Given the description of an element on the screen output the (x, y) to click on. 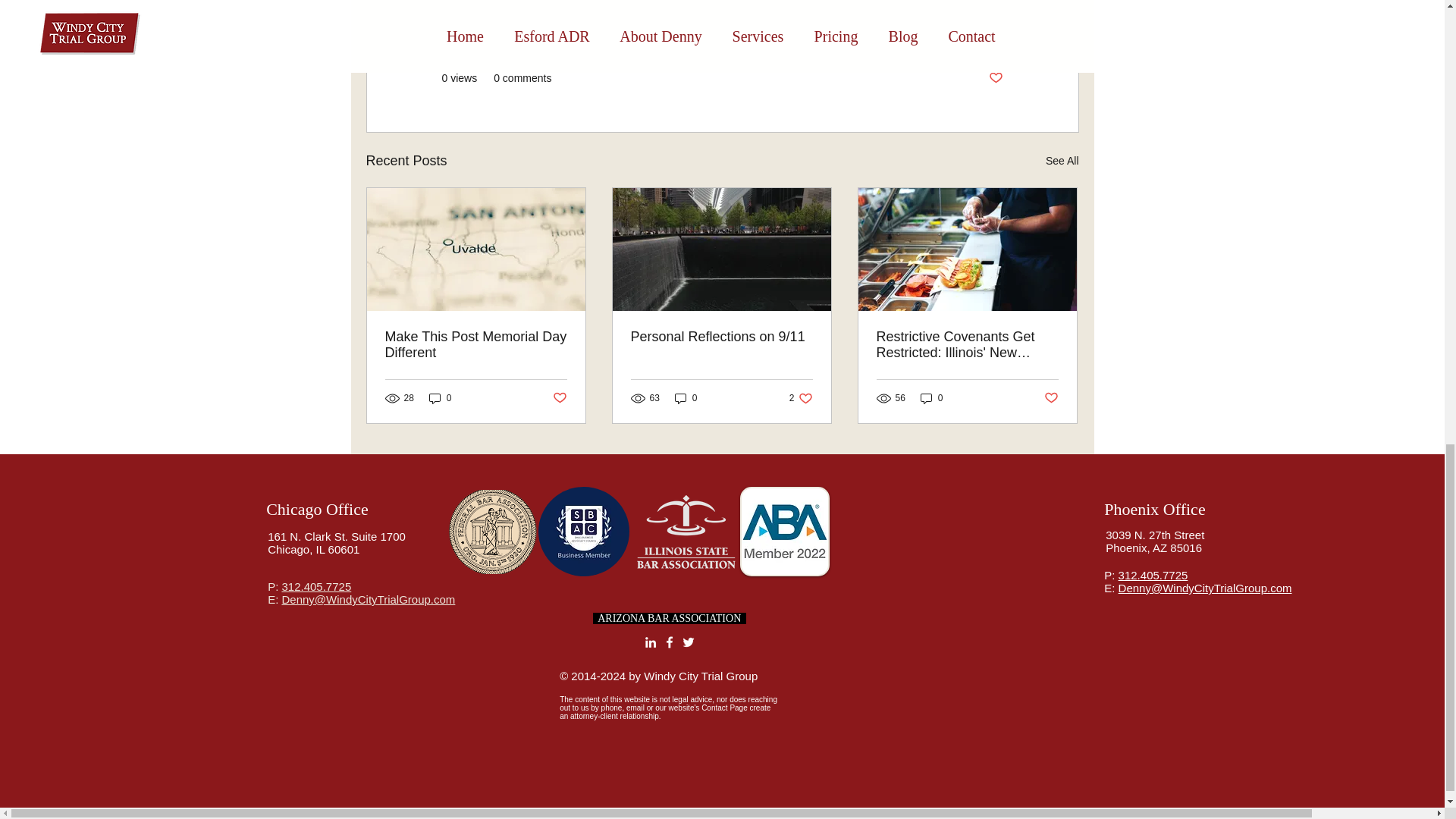
312.405.7725 (315, 585)
Post not marked as liked (558, 397)
0 (800, 398)
0 (685, 398)
0 (440, 398)
Post not marked as liked (931, 398)
Post not marked as liked (1050, 397)
  ARIZONA BAR ASSOCIATION   (995, 78)
Make This Post Memorial Day Different (668, 618)
Chicago Office (476, 345)
See All (317, 508)
